Given the description of an element on the screen output the (x, y) to click on. 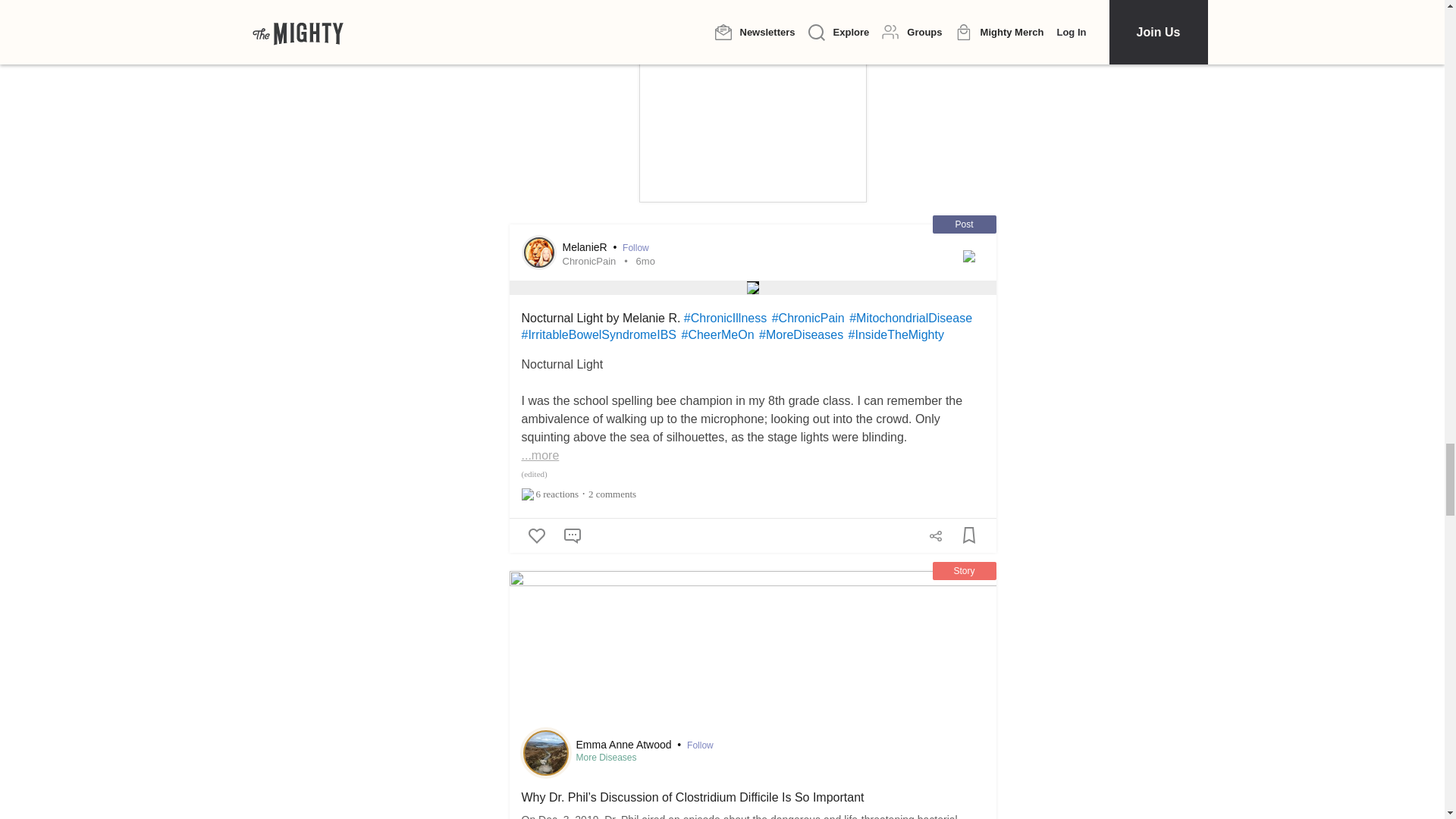
Inside The Mighty (895, 335)
Mitochondrial Disease (910, 318)
More Diseases (800, 335)
Visit MelanieR's profile (537, 252)
Chronic Pain (807, 318)
Cheer Me On (717, 335)
January 7, 2024 (645, 260)
Chronic Illness (725, 318)
